Given the description of an element on the screen output the (x, y) to click on. 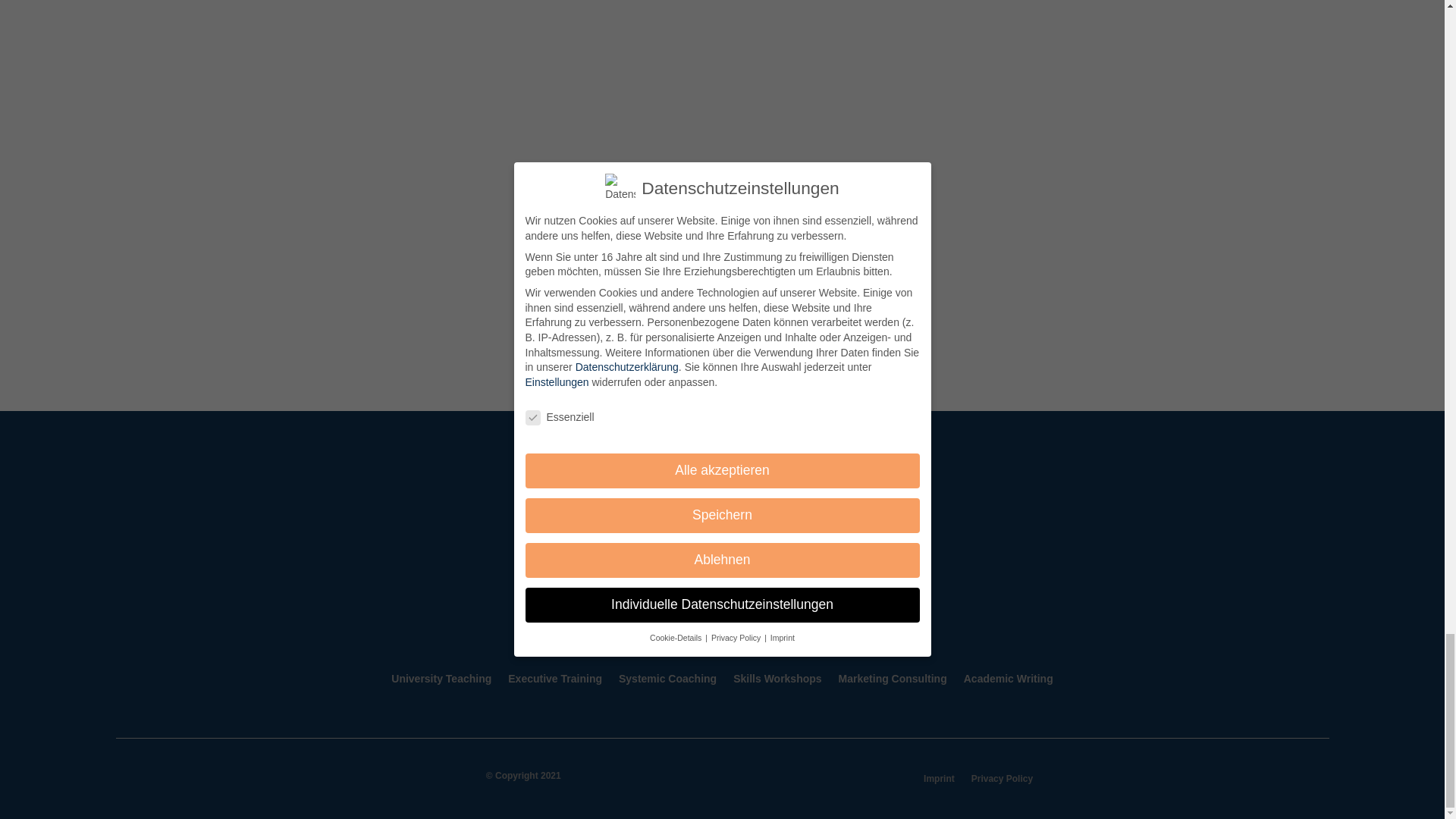
Academic Writing (1007, 678)
Skills Workshops (777, 678)
Imprint (939, 781)
Executive Training (555, 678)
Marketing Consulting (892, 678)
Systemic Coaching (667, 678)
University Teaching (441, 678)
Privacy Policy (1001, 781)
